Given the description of an element on the screen output the (x, y) to click on. 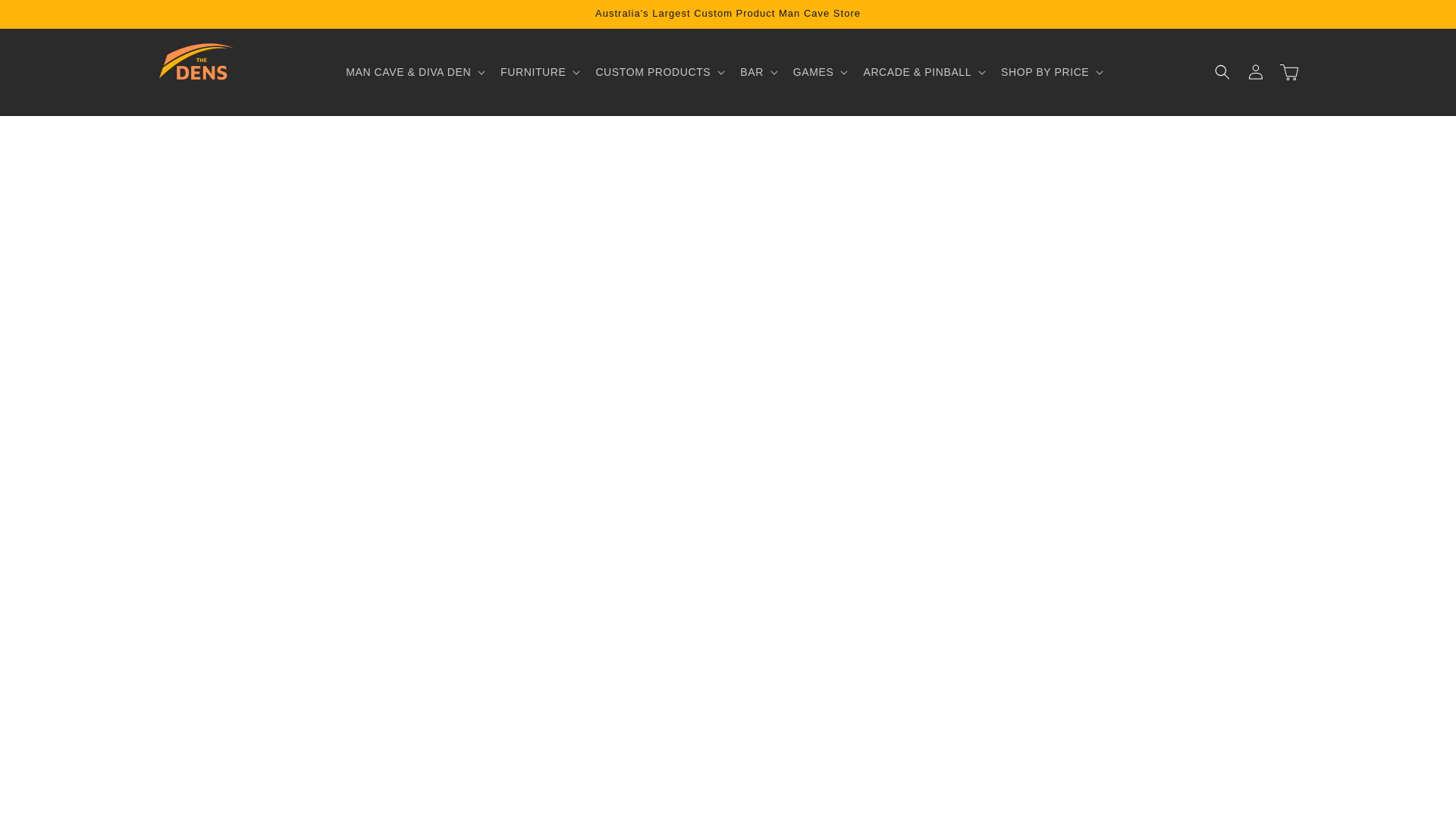
Skip to content (45, 17)
